Given the description of an element on the screen output the (x, y) to click on. 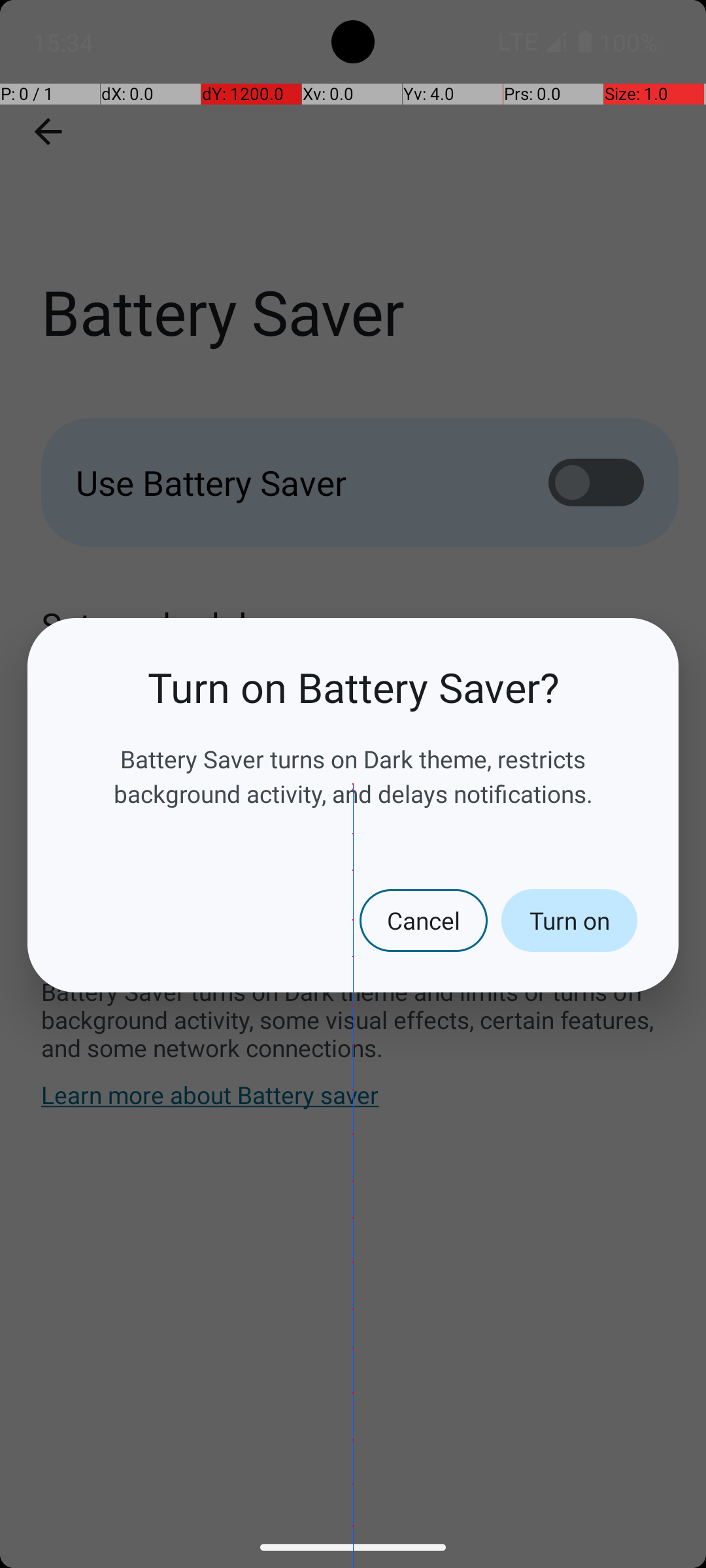
Turn on Battery Saver? Element type: android.widget.TextView (352, 686)
Battery Saver turns on Dark theme, restricts background activity, and delays notifications. Element type: android.widget.TextView (352, 776)
Turn on Element type: android.widget.Button (569, 920)
